Given the description of an element on the screen output the (x, y) to click on. 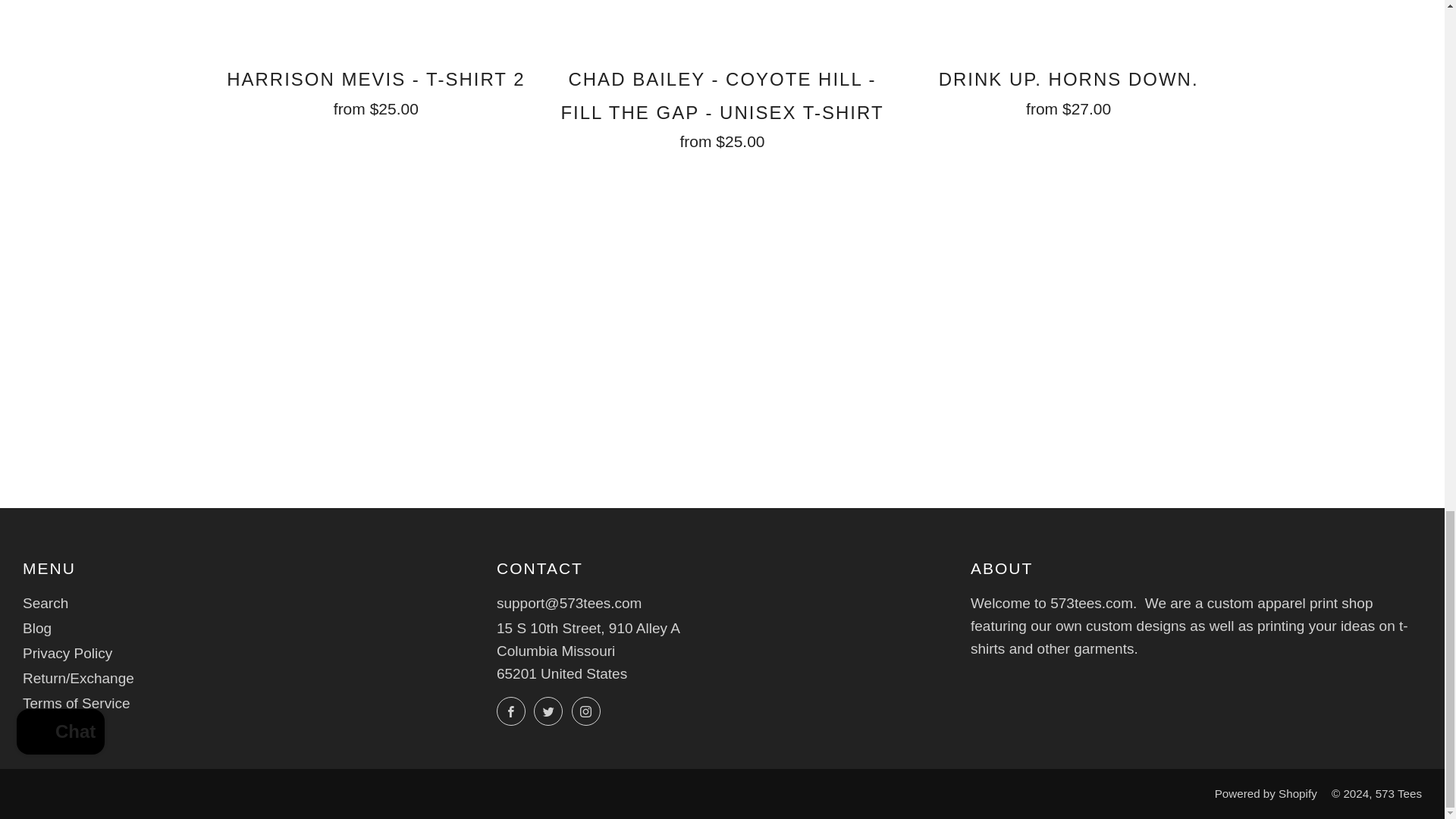
Harrison Mevis - T-Shirt 2 (376, 89)
Chad Bailey - Coyote Hill - Fill The Gap - Unisex T-Shirt (721, 105)
Drink Up. Horns Down. (1068, 89)
